Given the description of an element on the screen output the (x, y) to click on. 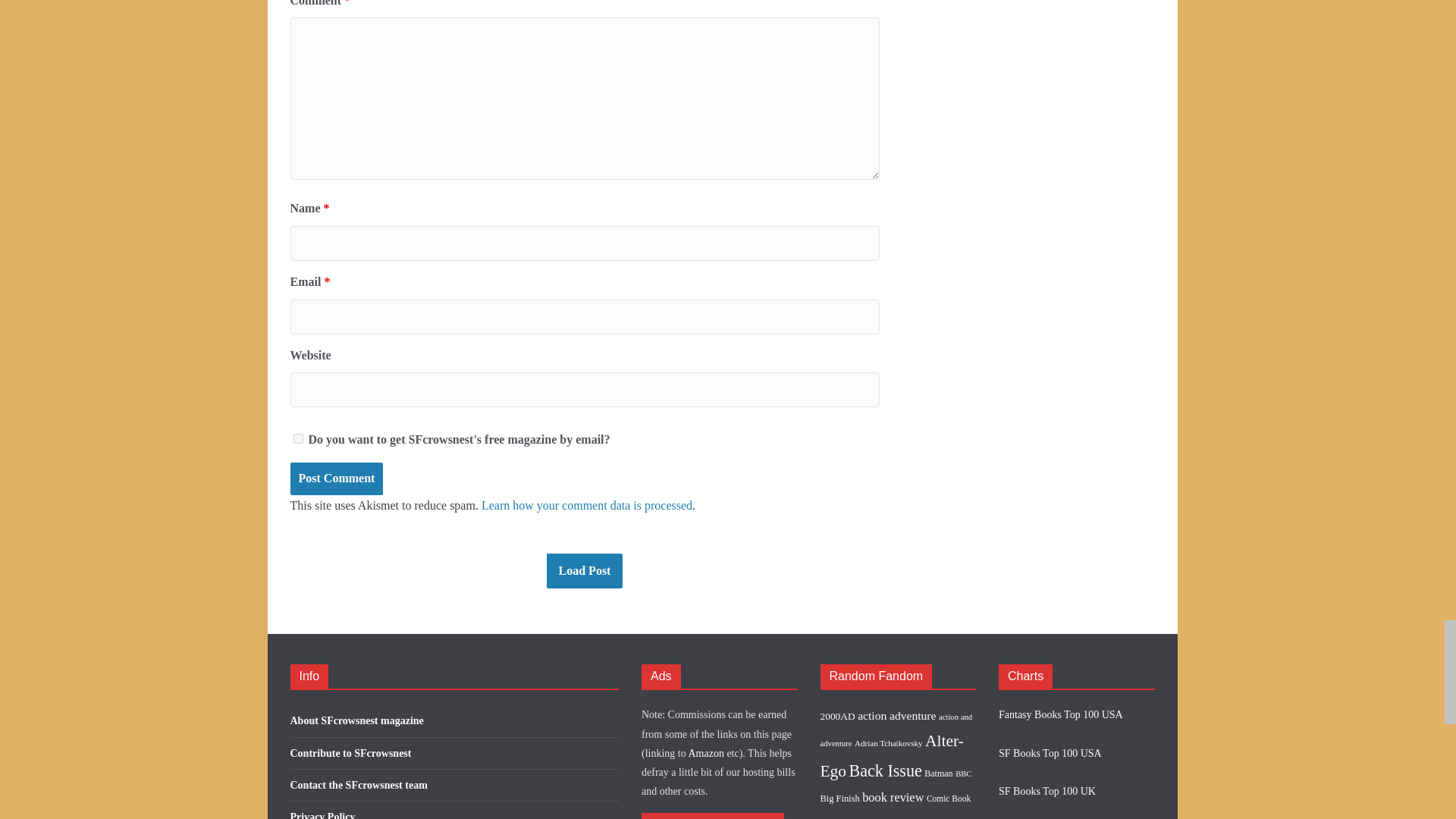
Post Comment (335, 478)
1 (297, 438)
